Given the description of an element on the screen output the (x, y) to click on. 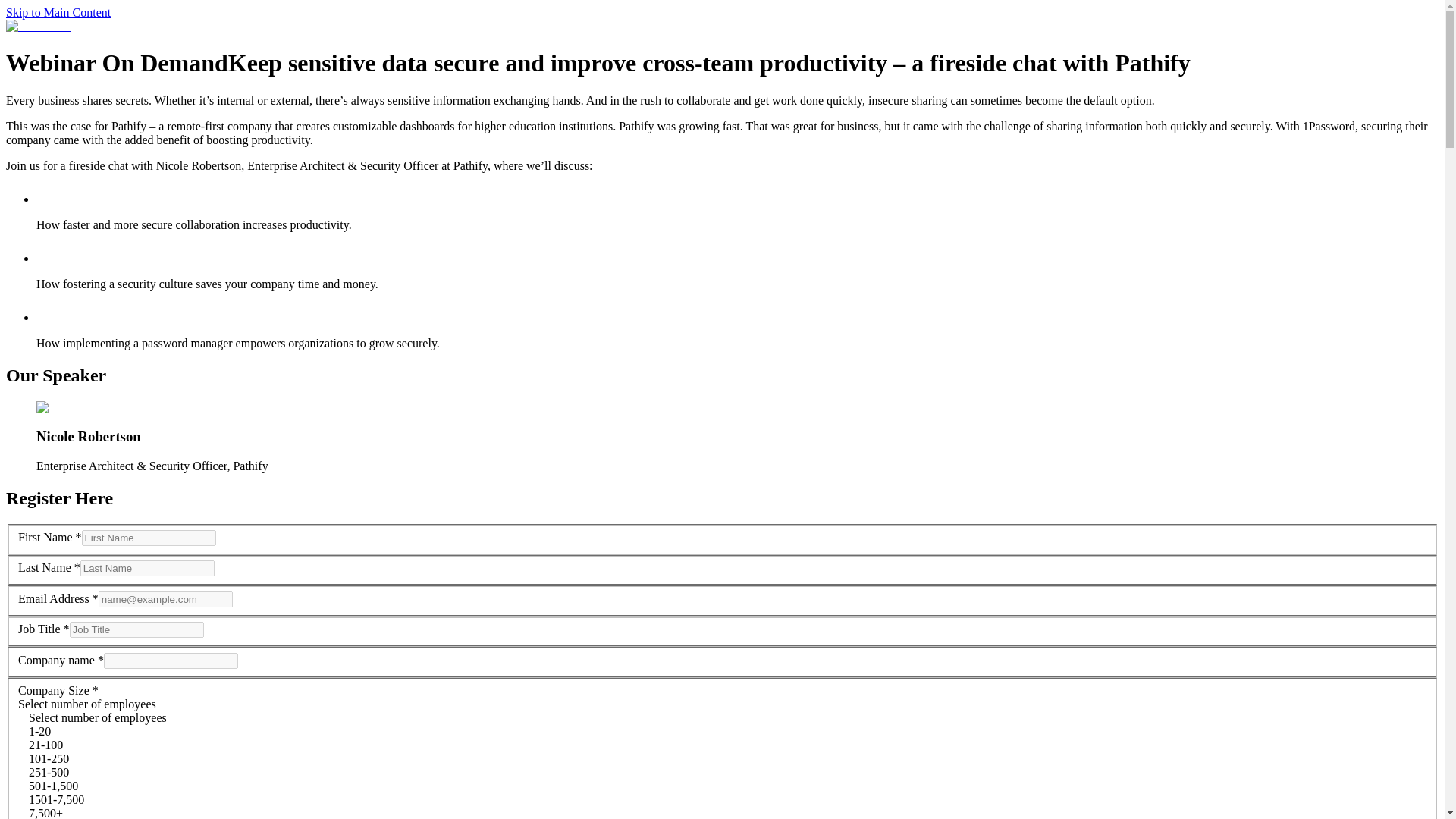
Skip to Main Content (57, 11)
